Given the description of an element on the screen output the (x, y) to click on. 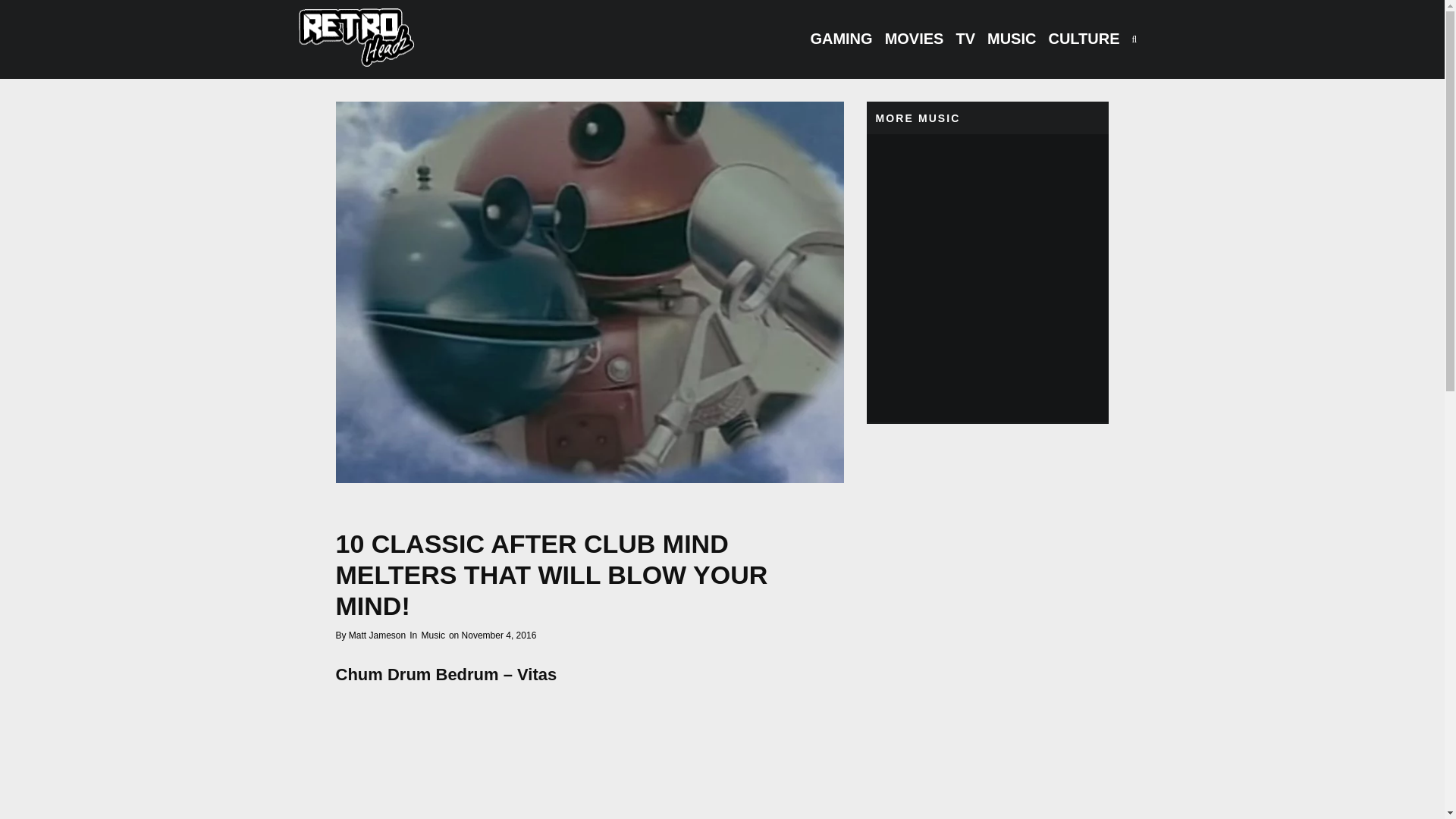
MOVIES (914, 39)
CULTURE (1083, 39)
Music (433, 635)
GAMING (840, 39)
By Matt Jameson (370, 634)
